Given the description of an element on the screen output the (x, y) to click on. 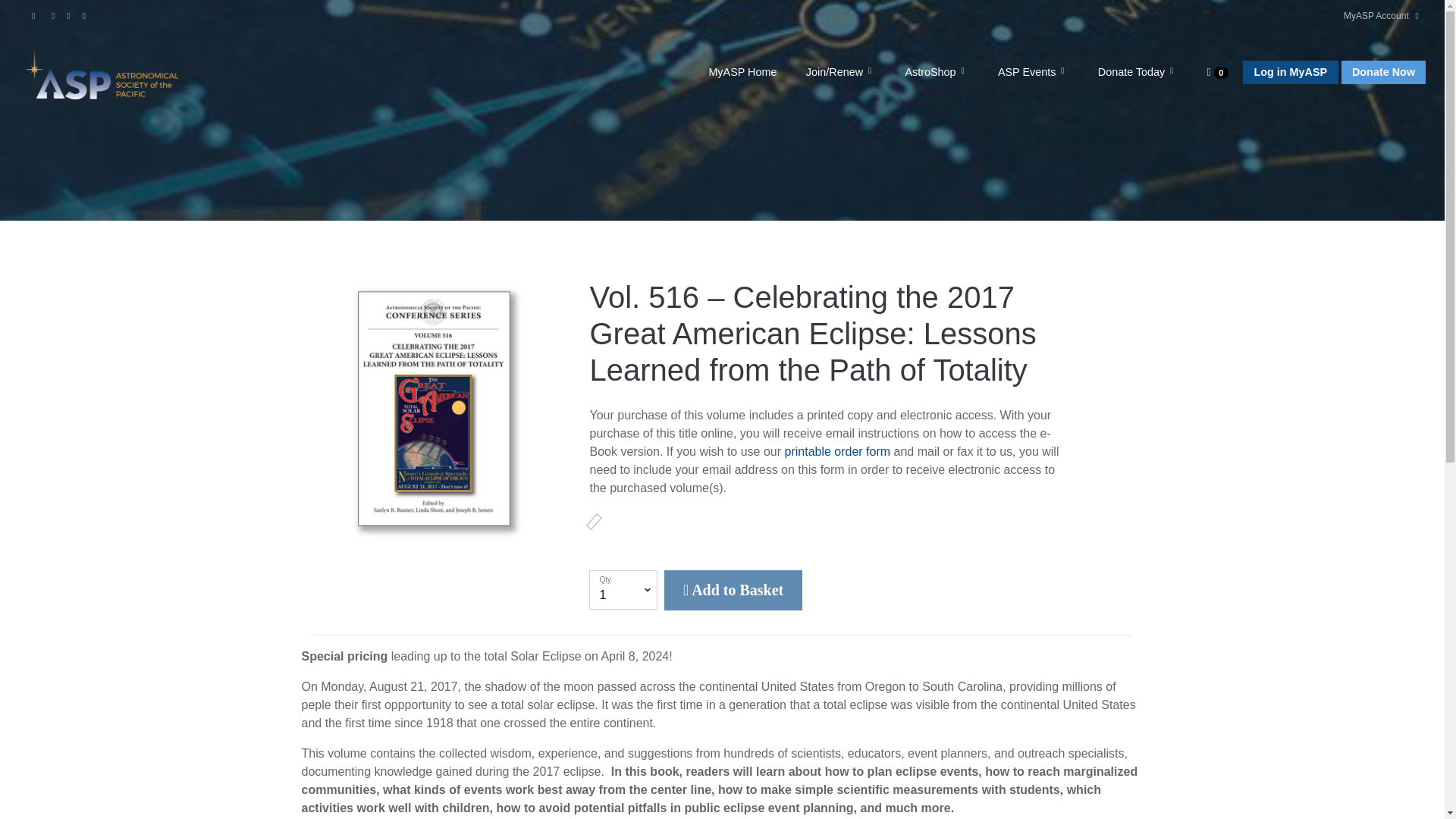
MyASP Home (742, 72)
MyASP Account (1377, 15)
AstroShop (936, 72)
